Given the description of an element on the screen output the (x, y) to click on. 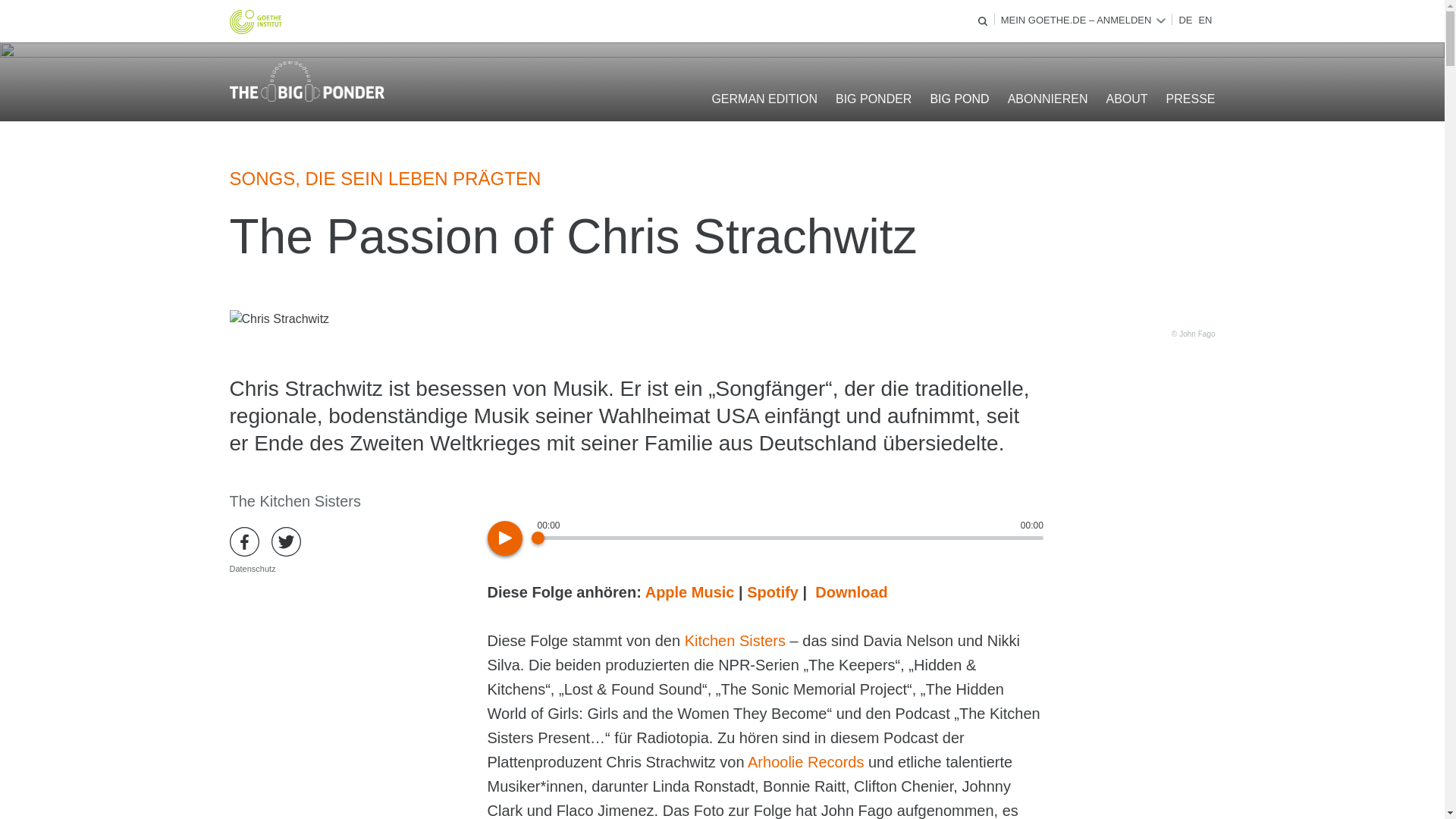
Logo Goethe Institut (254, 21)
Kitchen Sisters (735, 640)
Arhoolie Records (805, 761)
Download (851, 591)
BIG POND (959, 98)
ABOUT (1126, 98)
Logo Goethe Institut (254, 21)
BIG PONDER (873, 98)
Chris Strachwitz (278, 319)
Apple Music (690, 591)
